Given the description of an element on the screen output the (x, y) to click on. 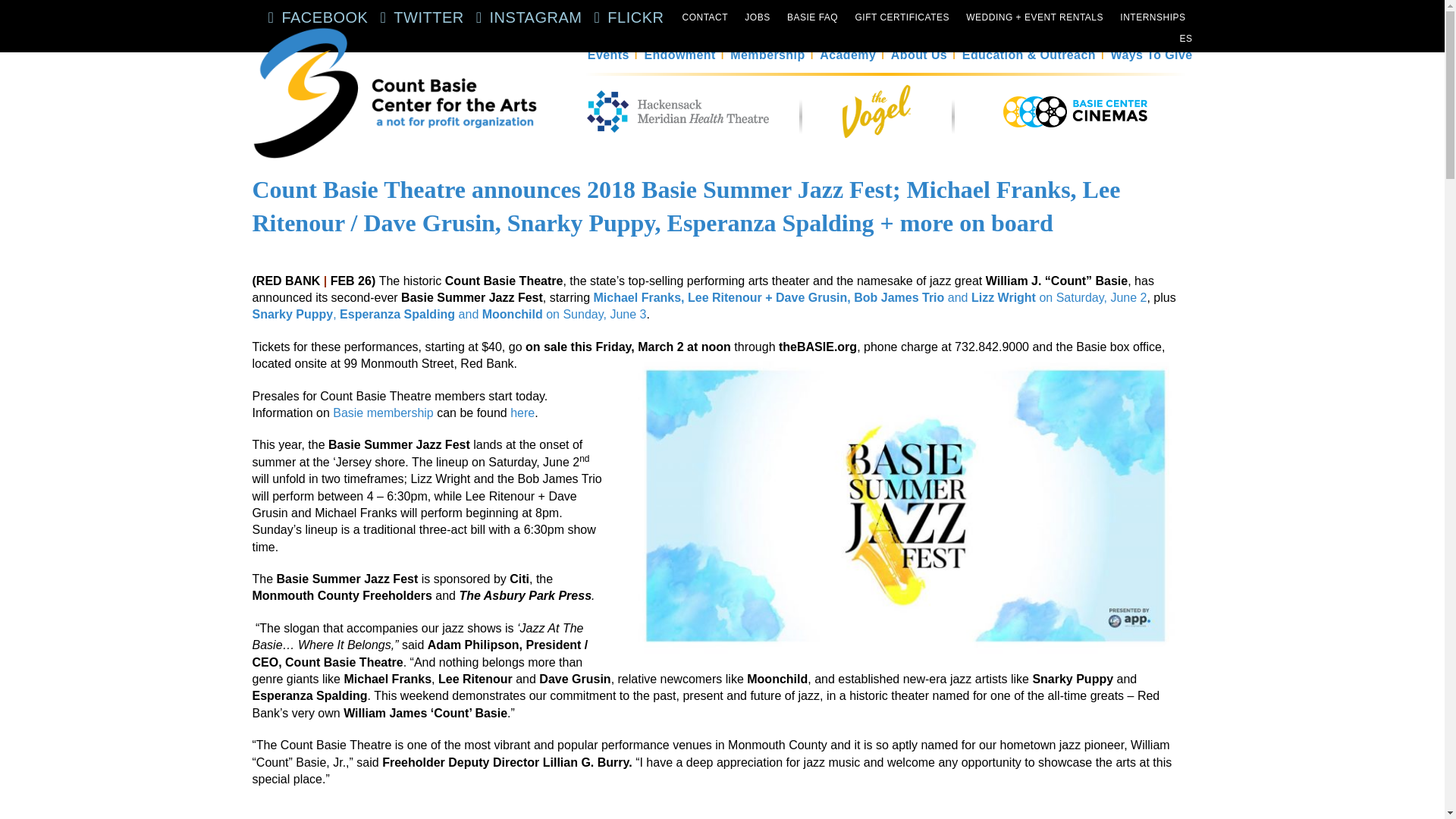
Ways To Give (1151, 54)
Membership (767, 54)
Endowment (678, 54)
Academy (847, 54)
TWITTER (417, 17)
INSTAGRAM (525, 17)
FACEBOOK (314, 17)
Events (608, 54)
About Us (919, 54)
